Given the description of an element on the screen output the (x, y) to click on. 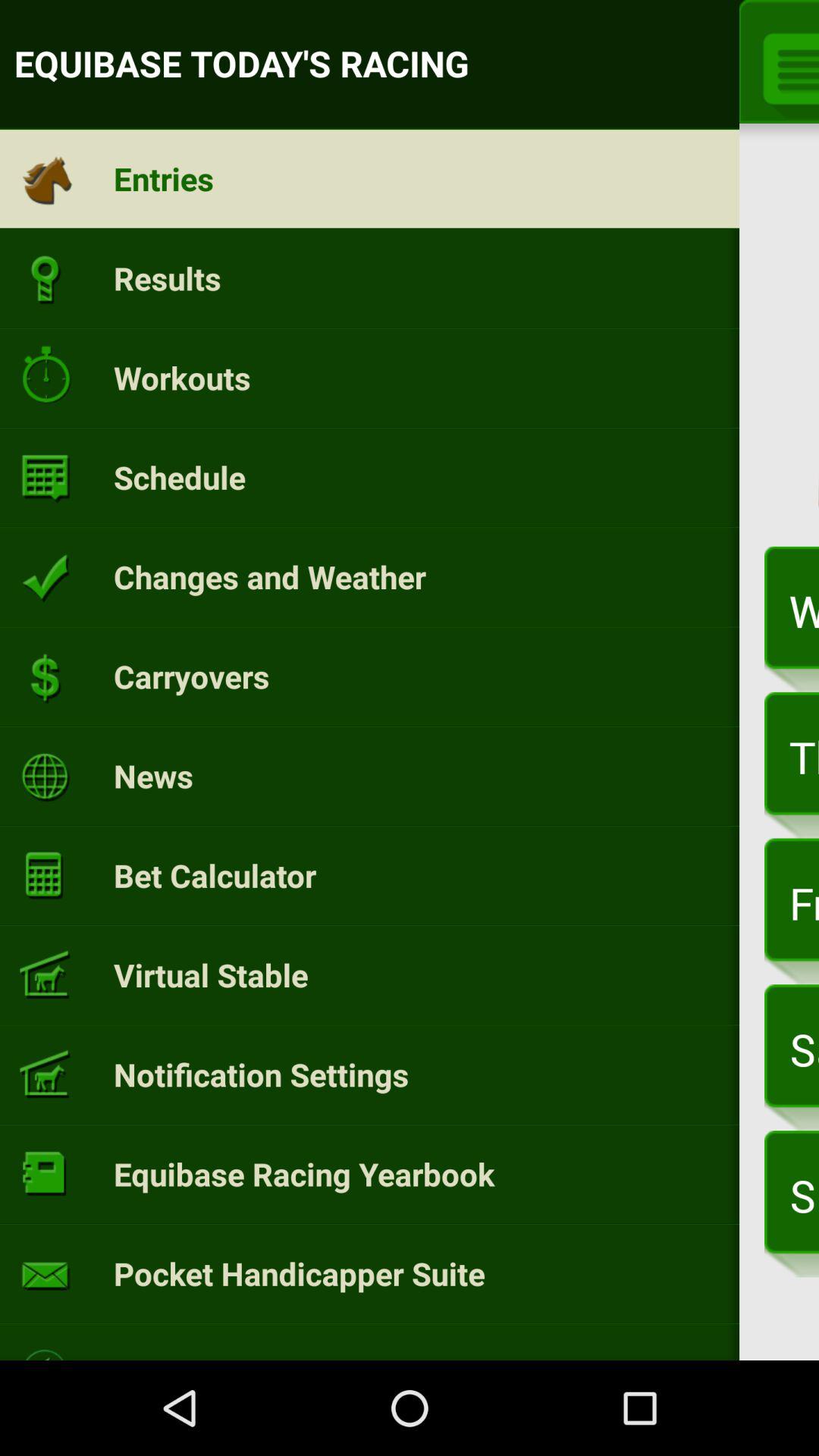
select virtual stable icon (210, 974)
